Given the description of an element on the screen output the (x, y) to click on. 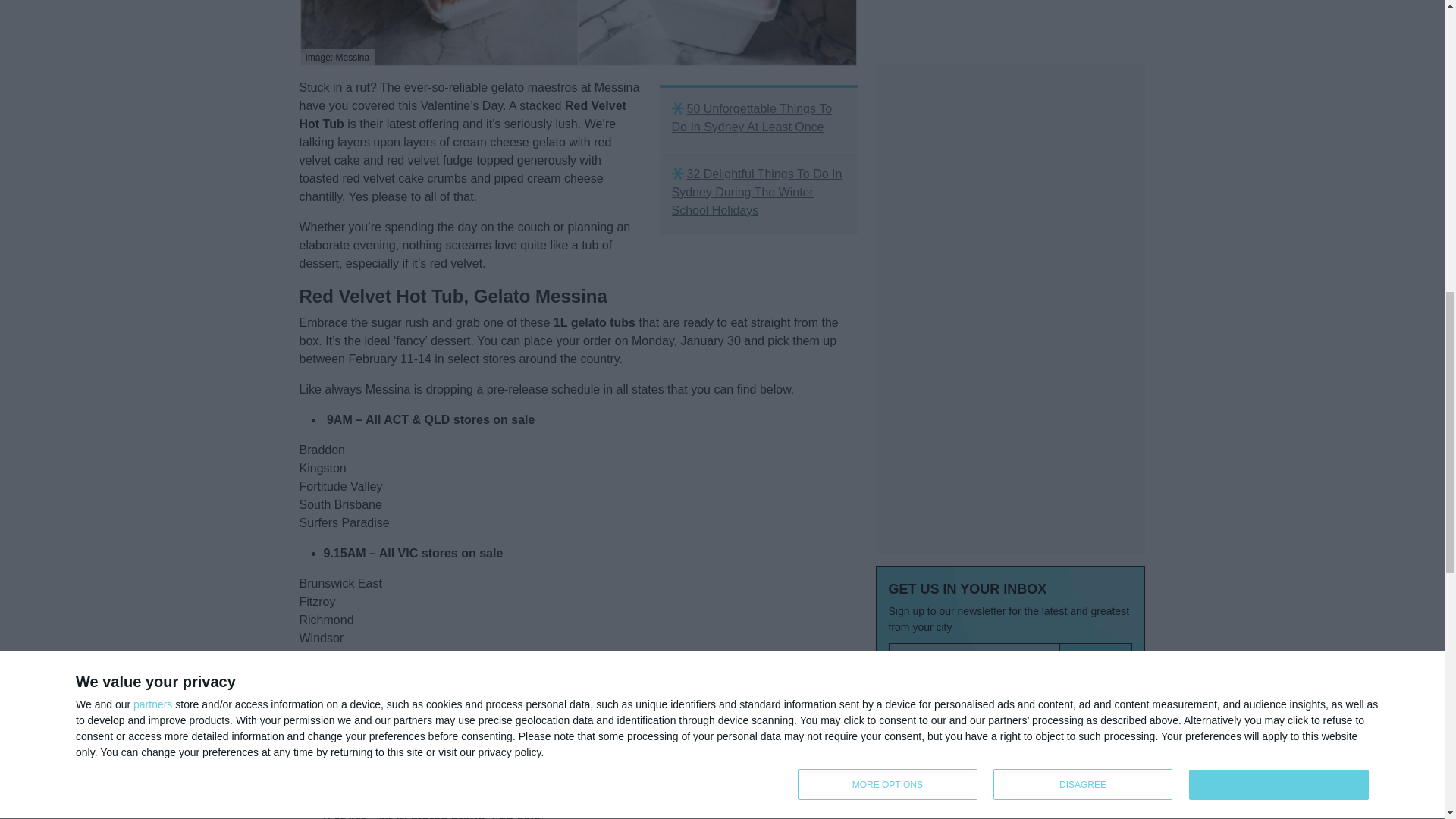
JULY 26, 2024 (904, 602)
50 Unforgettable Things To Do In Sydney At Least Once (758, 117)
JULY 26, 2024 (904, 502)
Subscribe (1095, 347)
Subscribe (1095, 347)
25 Brilliant Things To Do In Sydney This Weekend (952, 651)
1 (896, 377)
JULY 25, 2024 (904, 685)
40 Incredible And Essential Winter Activities In Sydney (953, 469)
